Given the description of an element on the screen output the (x, y) to click on. 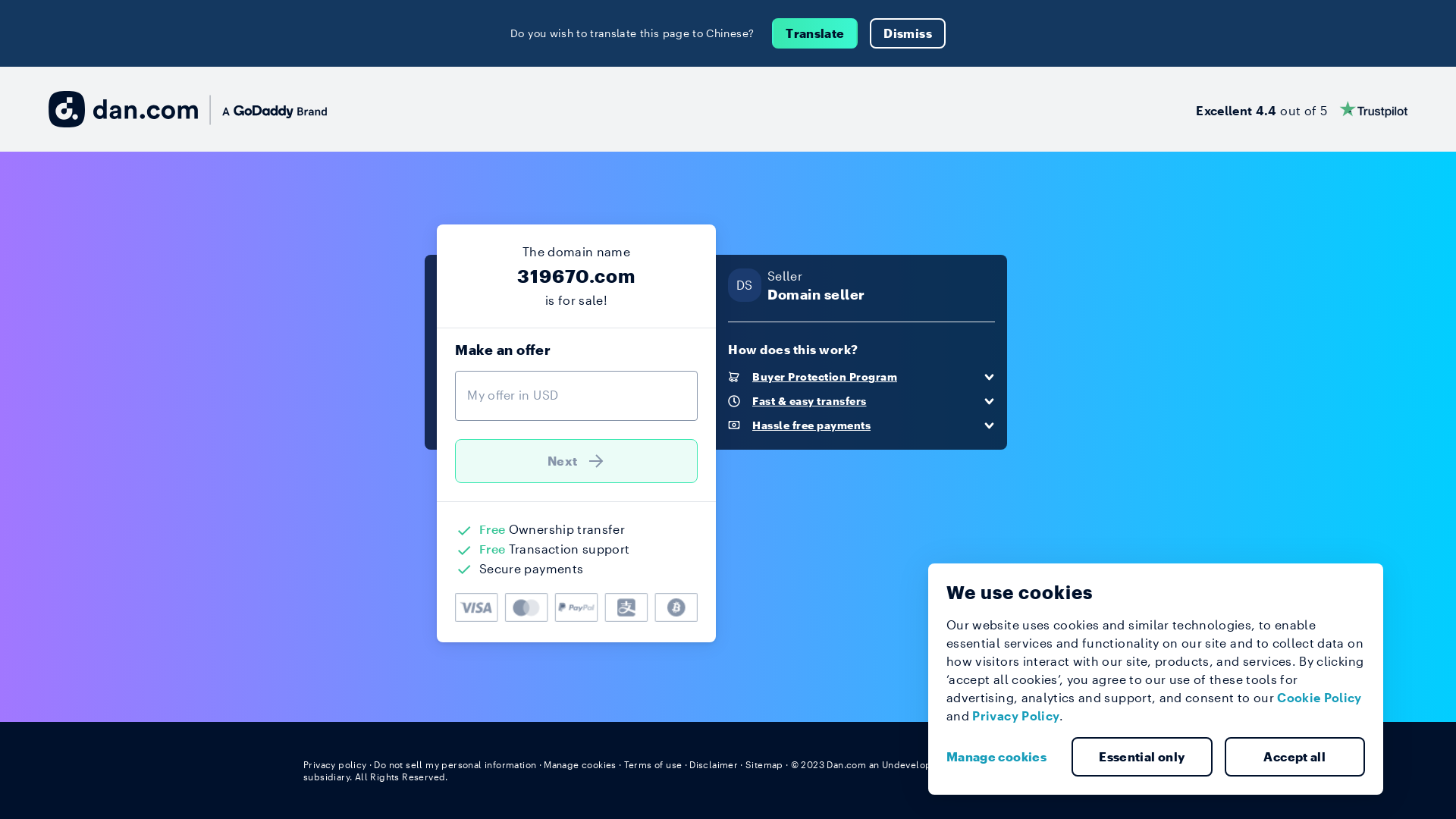
Manage cookies Element type: text (579, 764)
Terms of use Element type: text (653, 764)
Privacy Policy Element type: text (1015, 715)
Excellent 4.4 out of 5 Element type: text (1301, 109)
Essential only Element type: text (1141, 756)
Accept all Element type: text (1294, 756)
Dismiss Element type: text (906, 33)
Next
) Element type: text (576, 461)
English Element type: text (1124, 764)
Manage cookies Element type: text (1002, 756)
Cookie Policy Element type: text (1319, 697)
Do not sell my personal information Element type: text (454, 764)
Privacy policy Element type: text (335, 764)
Sitemap Element type: text (764, 764)
Disclaimer Element type: text (713, 764)
Translate Element type: text (814, 33)
